Given the description of an element on the screen output the (x, y) to click on. 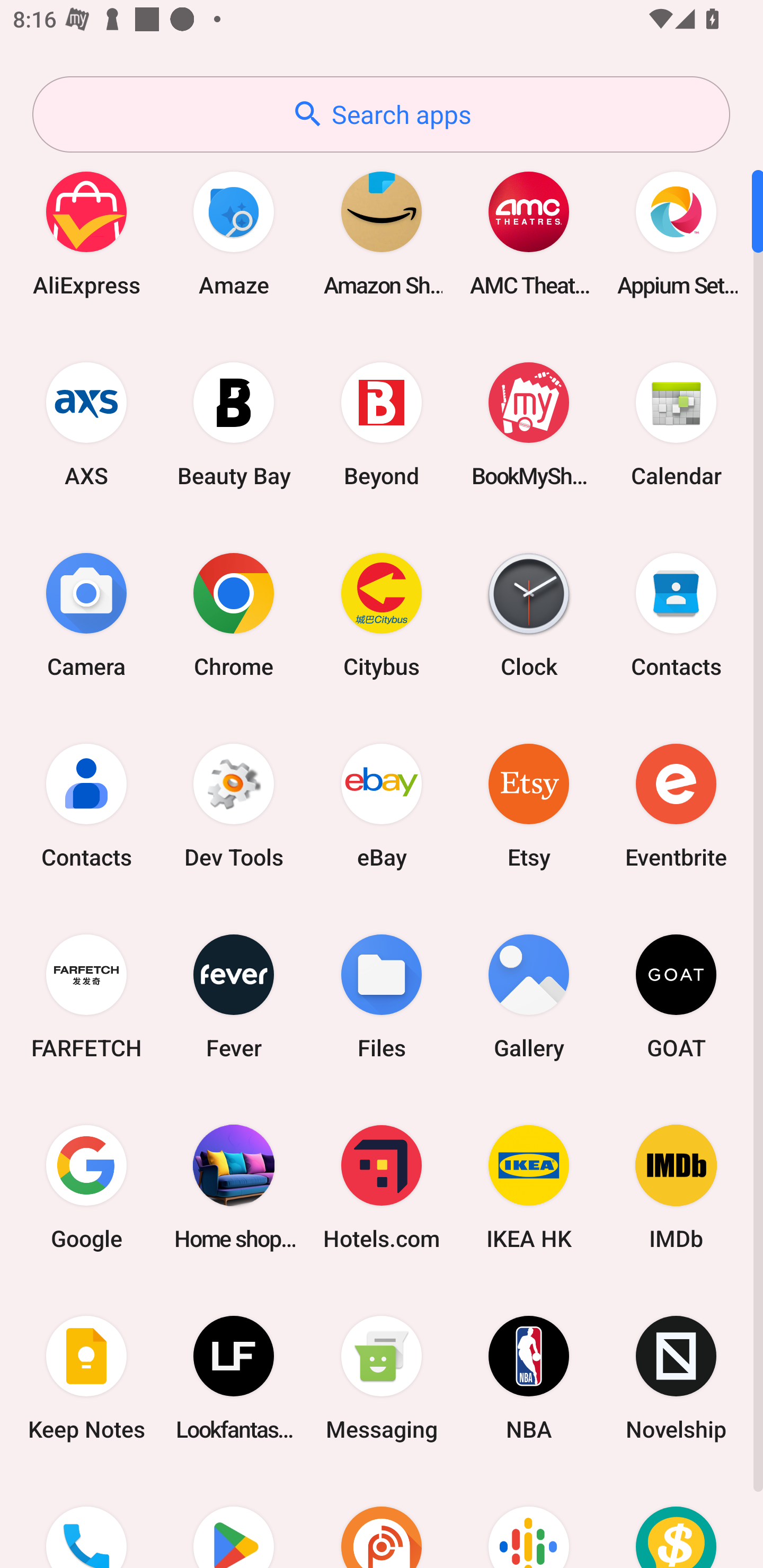
  Search apps (381, 114)
AliExpress (86, 233)
Amaze (233, 233)
Amazon Shopping (381, 233)
AMC Theatres (528, 233)
Appium Settings (676, 233)
AXS (86, 424)
Beauty Bay (233, 424)
Beyond (381, 424)
BookMyShow (528, 424)
Calendar (676, 424)
Camera (86, 614)
Chrome (233, 614)
Citybus (381, 614)
Clock (528, 614)
Contacts (676, 614)
Contacts (86, 805)
Dev Tools (233, 805)
eBay (381, 805)
Etsy (528, 805)
Eventbrite (676, 805)
FARFETCH (86, 996)
Fever (233, 996)
Files (381, 996)
Gallery (528, 996)
GOAT (676, 996)
Google (86, 1186)
Home shopping (233, 1186)
Hotels.com (381, 1186)
IKEA HK (528, 1186)
IMDb (676, 1186)
Keep Notes (86, 1377)
Lookfantastic (233, 1377)
Messaging (381, 1377)
NBA (528, 1377)
Novelship (676, 1377)
Phone (86, 1520)
Play Store (233, 1520)
Podcast Addict (381, 1520)
Podcasts (528, 1520)
Price (676, 1520)
